Given the description of an element on the screen output the (x, y) to click on. 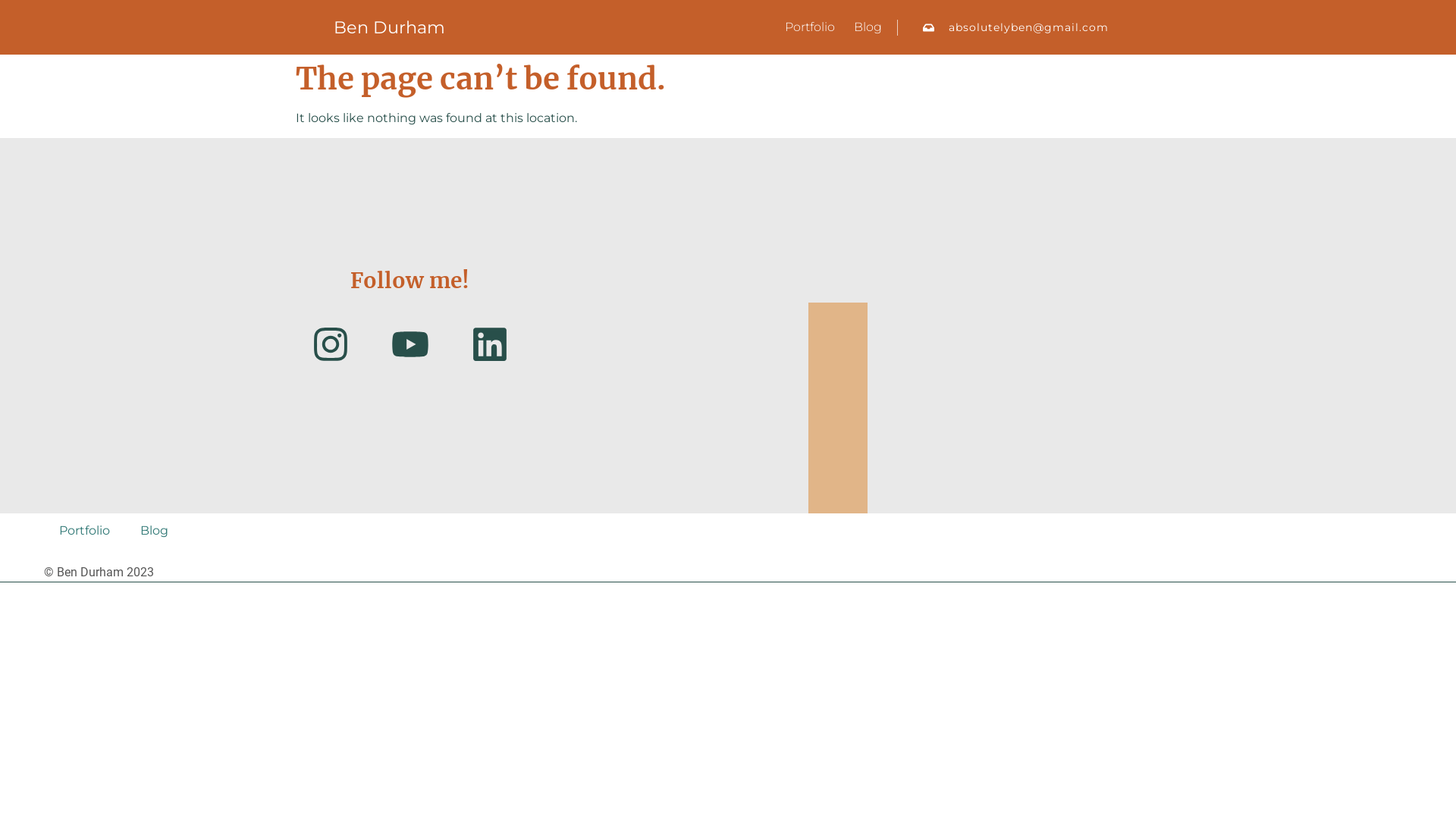
Blog Element type: text (154, 530)
Portfolio Element type: text (84, 530)
Blog Element type: text (867, 26)
Ben Durham Element type: text (389, 26)
Portfolio Element type: text (809, 26)
